Given the description of an element on the screen output the (x, y) to click on. 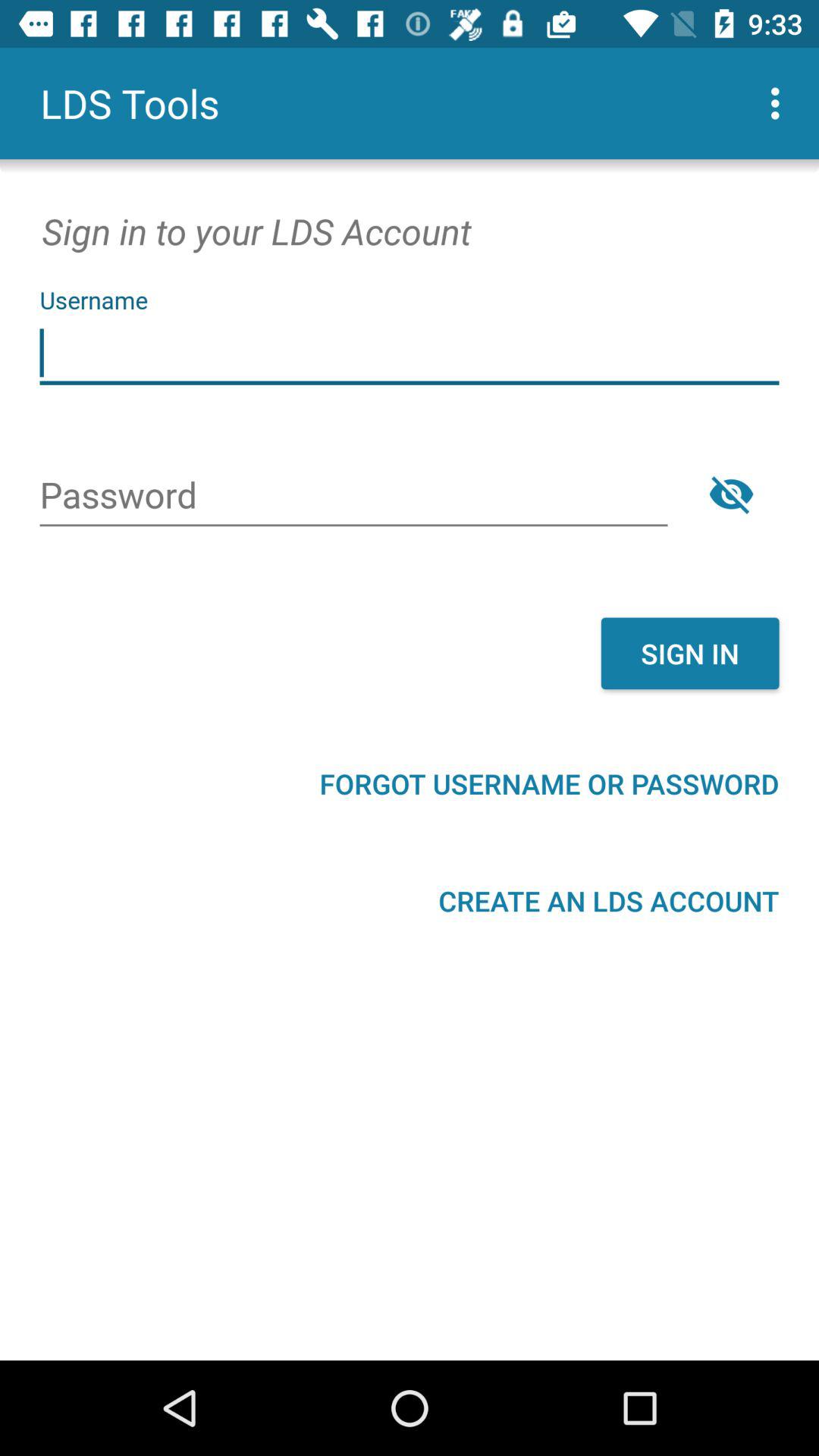
toggle show password (731, 493)
